Given the description of an element on the screen output the (x, y) to click on. 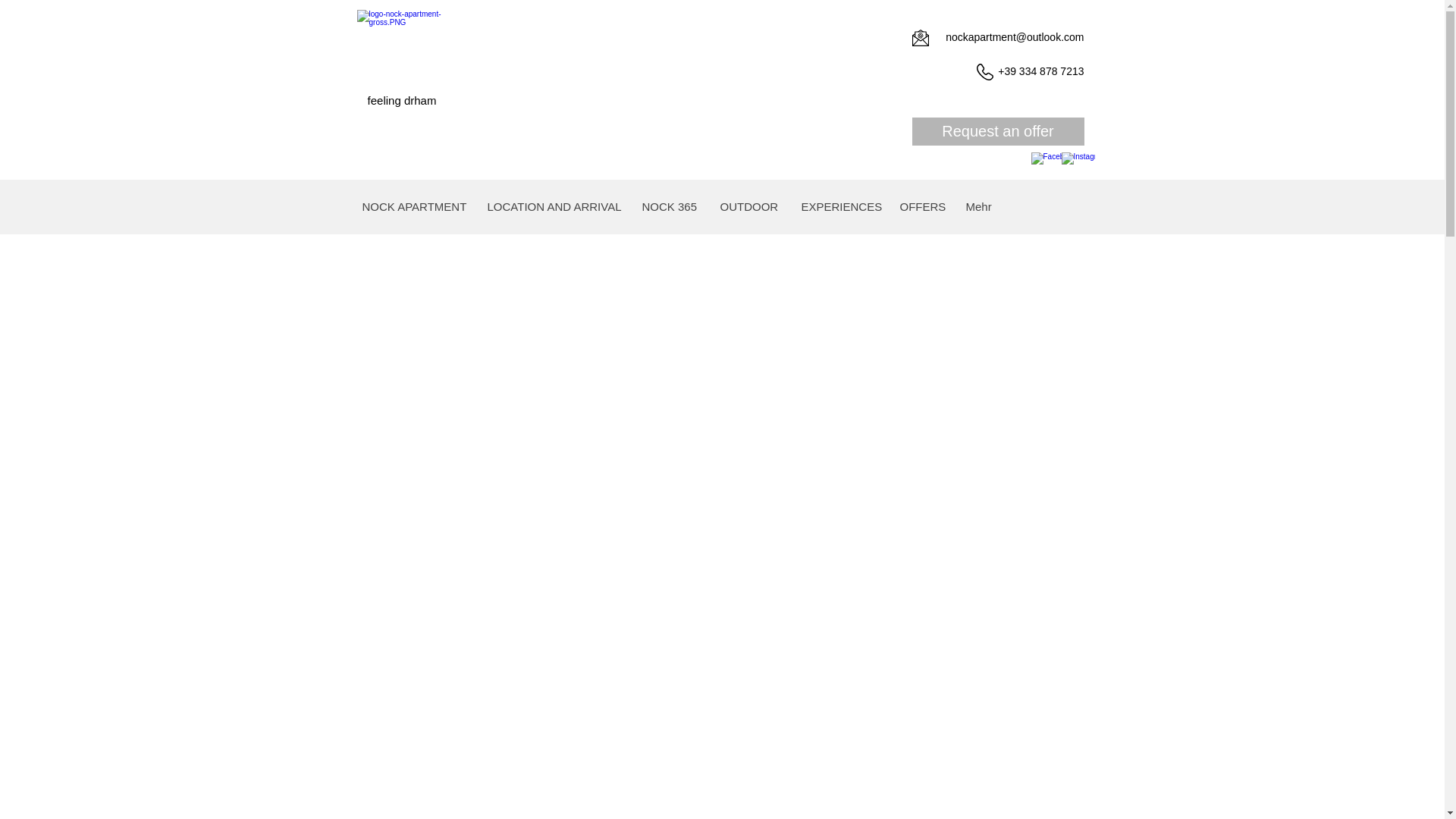
NOCK APARTMENT (412, 206)
OUTDOOR (748, 206)
EXPERIENCES (837, 206)
Request an offer (997, 131)
LOCATION AND ARRIVAL (551, 206)
NOCK 365 (667, 206)
feeling drham (402, 100)
